Given the description of an element on the screen output the (x, y) to click on. 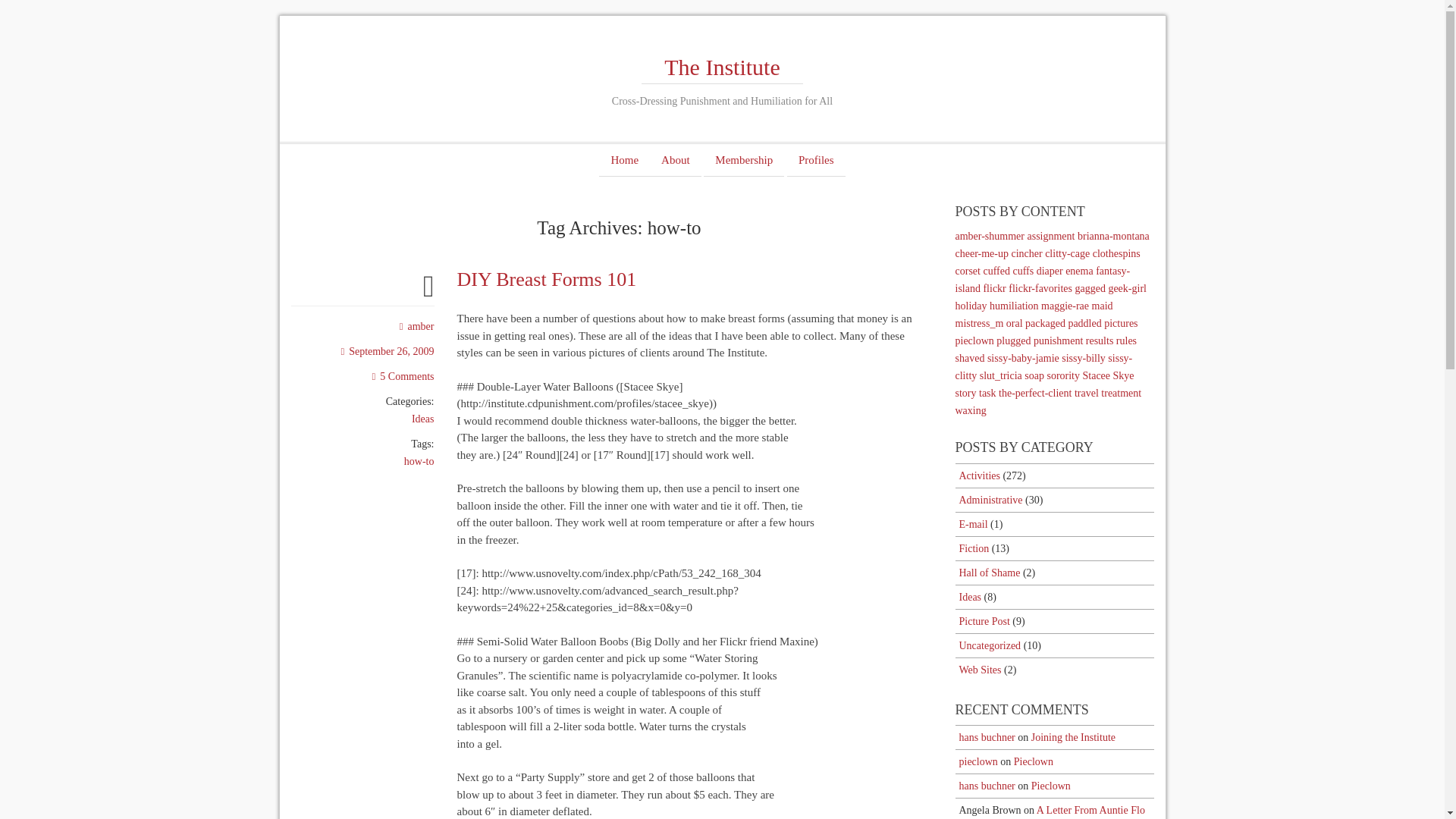
Permalink to DIY Breast Forms 101 (546, 279)
The Institute (722, 67)
corset (967, 270)
cuffs (1022, 270)
clitty-cage (1067, 253)
5 Comments (402, 376)
cuffed (996, 270)
geek-girl (1127, 288)
enema (1079, 270)
DIY Breast Forms 101 (546, 279)
